Given the description of an element on the screen output the (x, y) to click on. 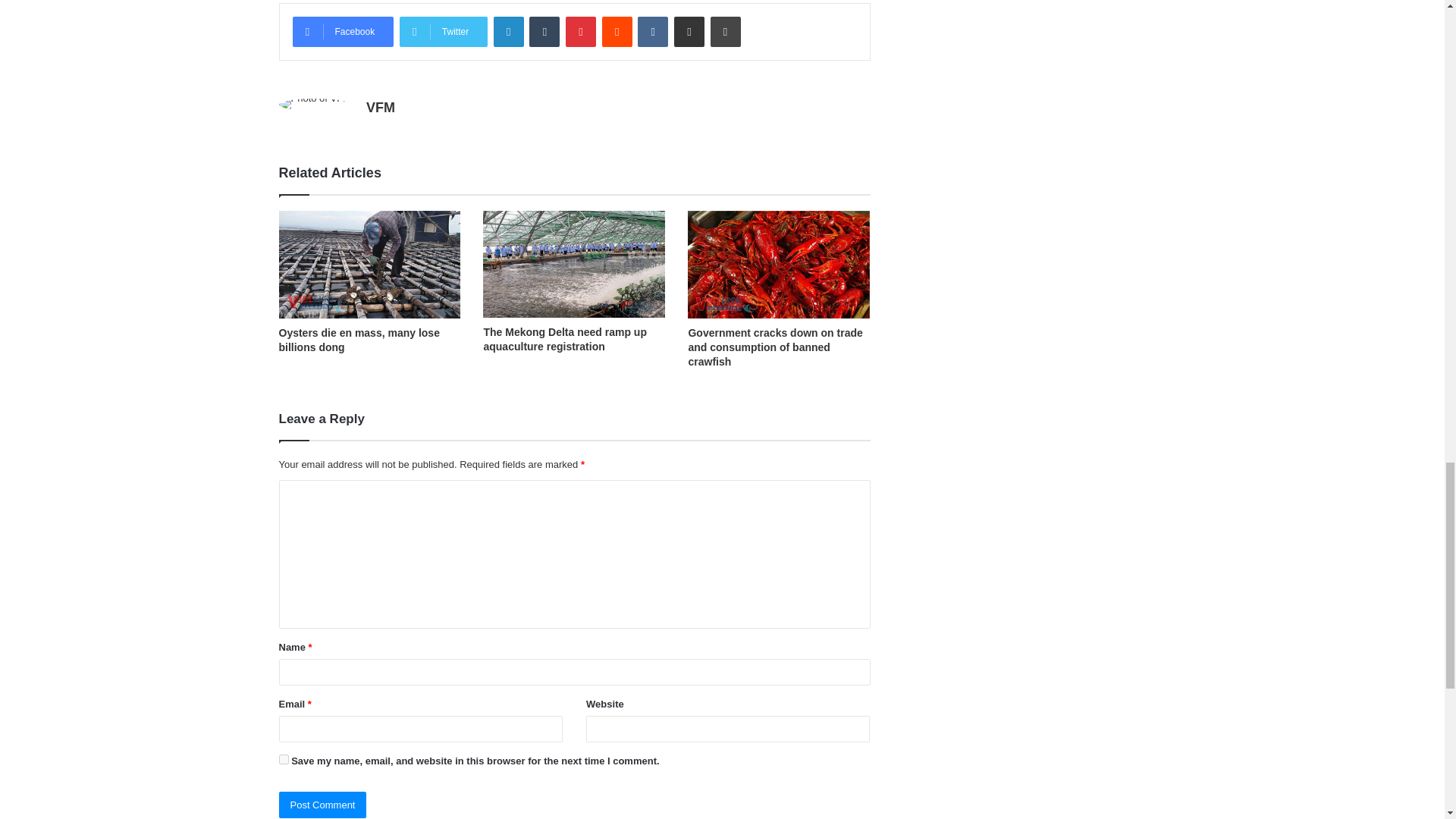
Facebook (343, 31)
Oysters die en mass, many lose billions dong (359, 339)
yes (283, 759)
The Mekong Delta need ramp up aquaculture registration (564, 338)
LinkedIn (508, 31)
VKontakte (652, 31)
Reddit (616, 31)
Tumblr (544, 31)
Reddit (616, 31)
VKontakte (652, 31)
Pinterest (580, 31)
Print (725, 31)
Print (725, 31)
Share via Email (689, 31)
LinkedIn (508, 31)
